Given the description of an element on the screen output the (x, y) to click on. 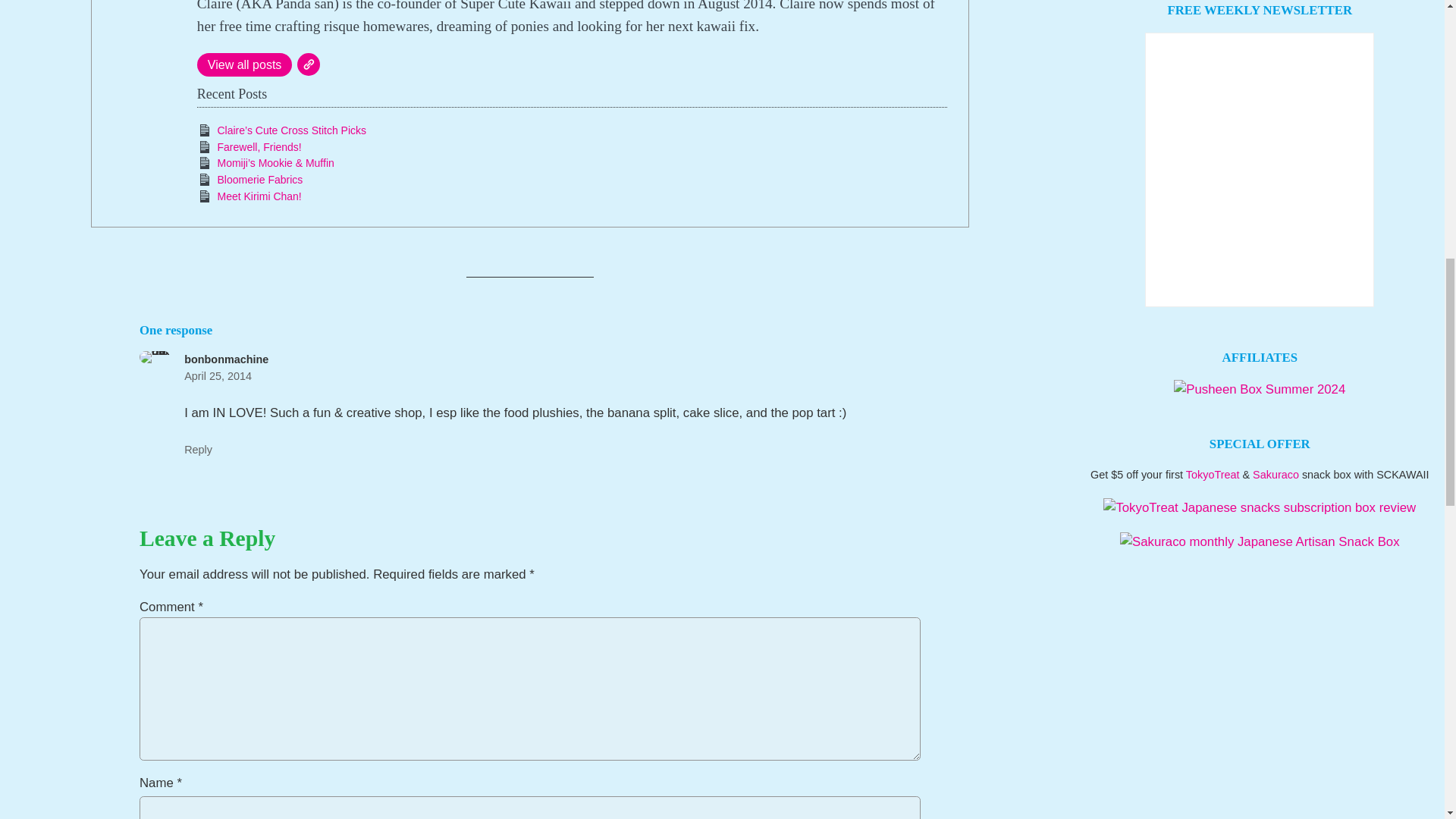
View all posts (244, 64)
Farewell, Friends! (258, 146)
Meet Kirimi Chan! (258, 196)
Bloomerie Fabrics (259, 179)
